Given the description of an element on the screen output the (x, y) to click on. 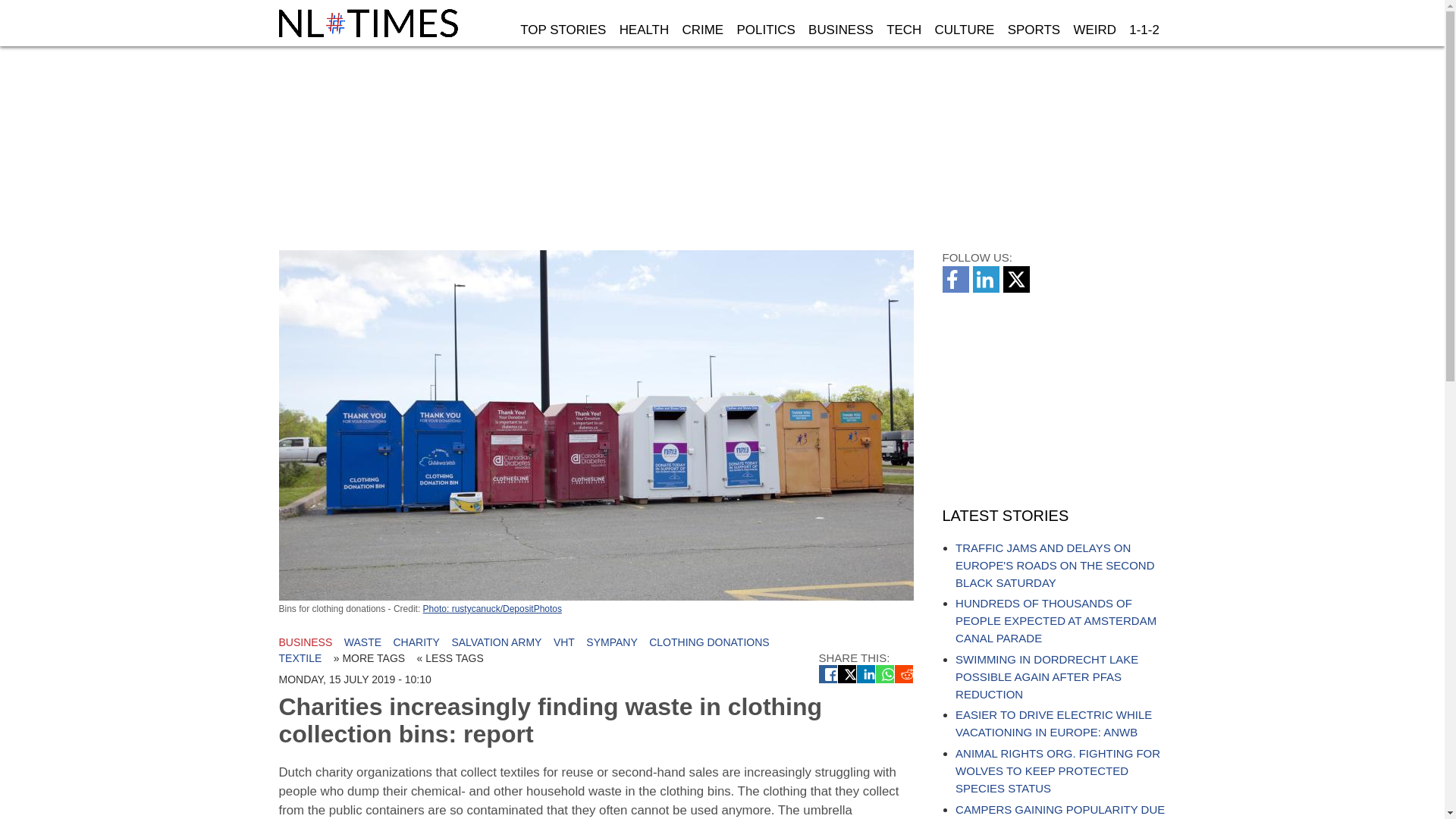
EASIER TO DRIVE ELECTRIC WHILE VACATIONING IN EUROPE: ANWB (1053, 723)
TOP STORIES (562, 30)
1-1-2 (1144, 30)
Home (370, 22)
TEXTILE (300, 657)
FACEBOOK (827, 674)
BUSINESS (840, 30)
Follow us on LinkedIn (987, 287)
CLOTHING DONATIONS (708, 642)
WHATSAPP (884, 674)
SPORTS (1034, 30)
